Given the description of an element on the screen output the (x, y) to click on. 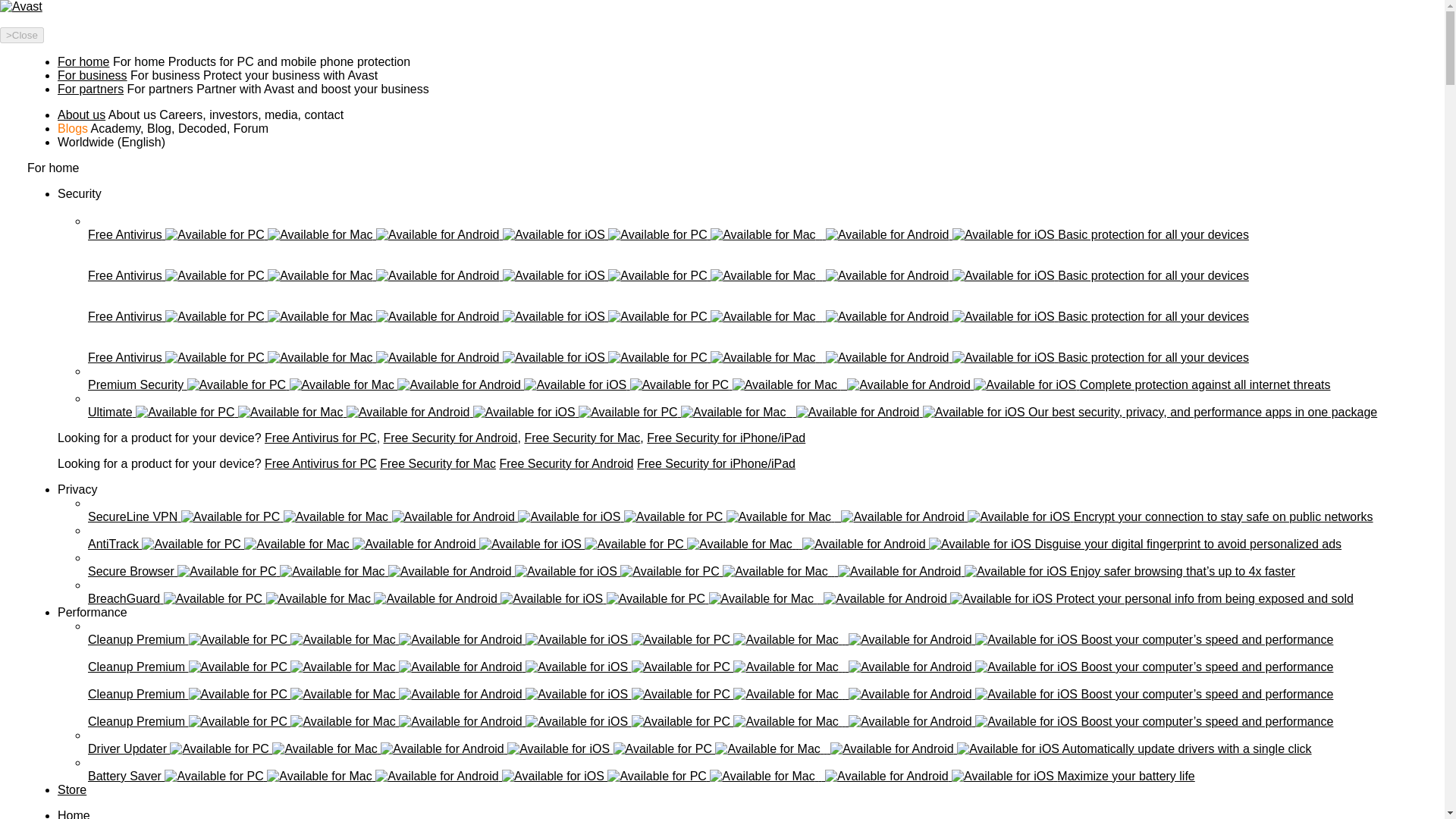
Free Antivirus (99, 212)
Free Antivirus (99, 335)
Free Security for Android (451, 437)
Free Security for Mac (438, 463)
Free Antivirus for PC (320, 437)
Free Antivirus (99, 294)
Free Antivirus for PC (320, 463)
For business (93, 74)
For partners (90, 88)
Free Security for Android (566, 463)
